Given the description of an element on the screen output the (x, y) to click on. 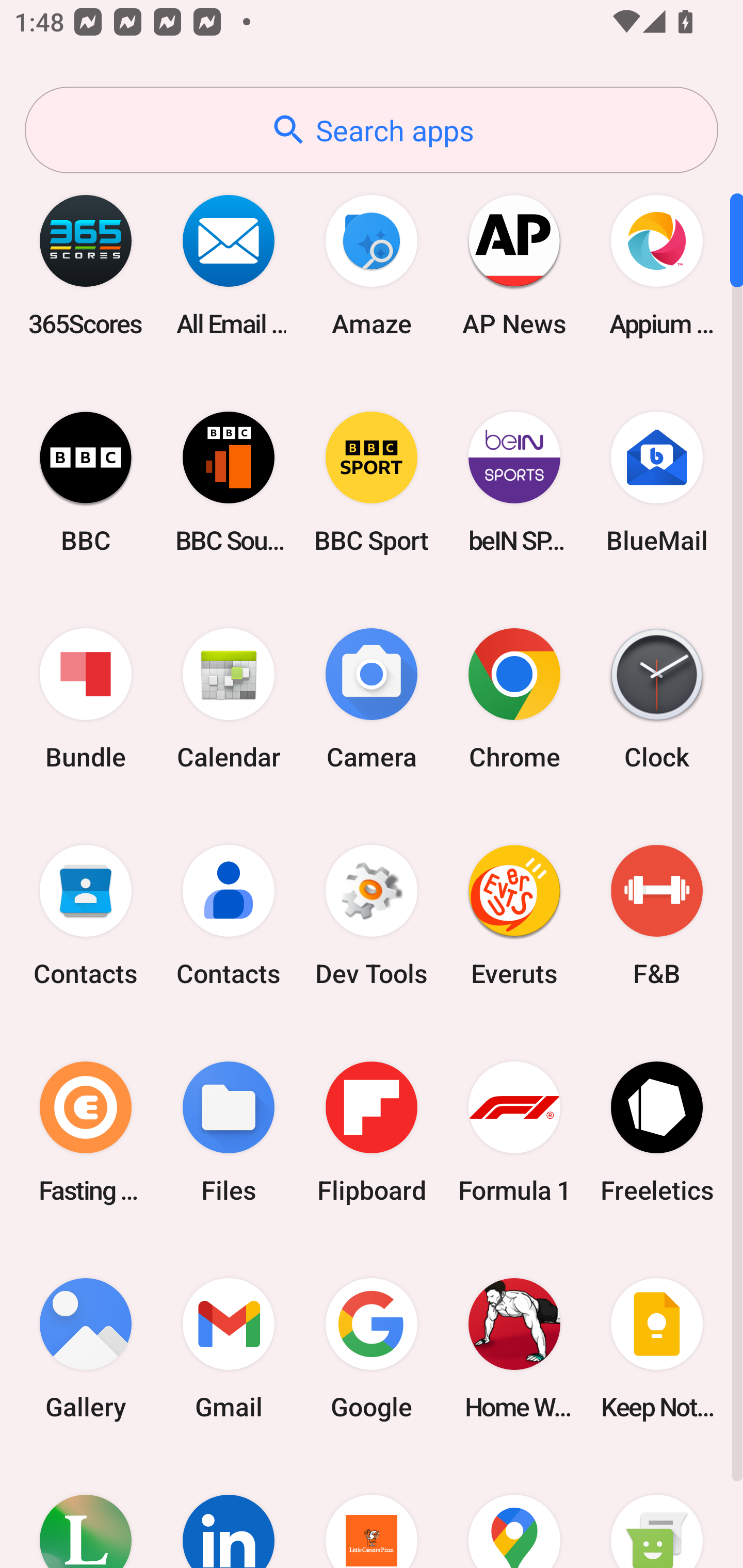
  Search apps (371, 130)
365Scores (85, 264)
All Email Connect (228, 264)
Amaze (371, 264)
AP News (514, 264)
Appium Settings (656, 264)
BBC (85, 482)
BBC Sounds (228, 482)
BBC Sport (371, 482)
beIN SPORTS (514, 482)
BlueMail (656, 482)
Bundle (85, 699)
Calendar (228, 699)
Camera (371, 699)
Chrome (514, 699)
Clock (656, 699)
Contacts (85, 915)
Contacts (228, 915)
Dev Tools (371, 915)
Everuts (514, 915)
F&B (656, 915)
Fasting Coach (85, 1131)
Files (228, 1131)
Flipboard (371, 1131)
Formula 1 (514, 1131)
Freeletics (656, 1131)
Gallery (85, 1348)
Gmail (228, 1348)
Google (371, 1348)
Home Workout (514, 1348)
Keep Notes (656, 1348)
Lifesum (85, 1512)
LinkedIn (228, 1512)
Little Caesars Pizza (371, 1512)
Maps (514, 1512)
Messaging (656, 1512)
